Given the description of an element on the screen output the (x, y) to click on. 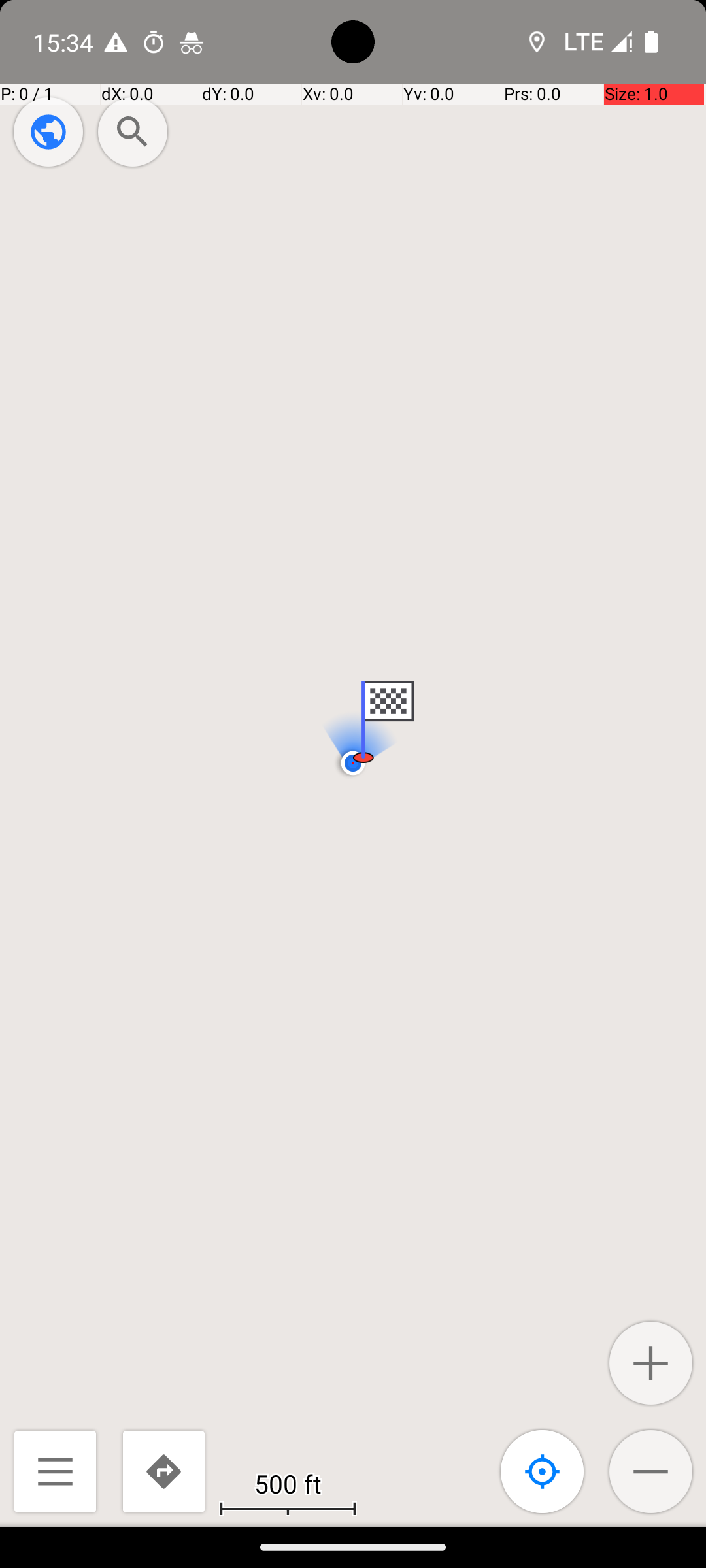
500 ft Element type: android.widget.TextView (287, 1483)
Map linked to location Element type: android.widget.ImageButton (542, 1471)
